Given the description of an element on the screen output the (x, y) to click on. 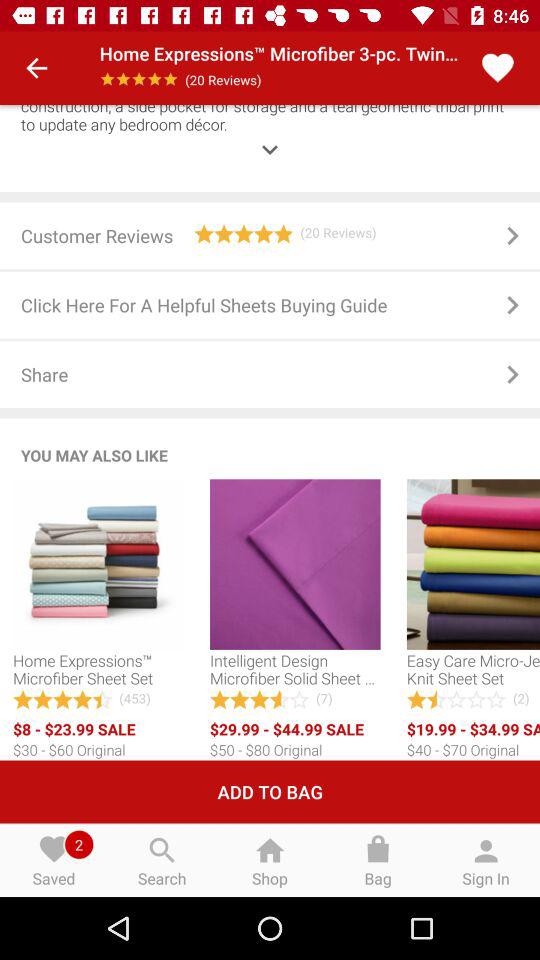
turn on item to the left of the home expressions microfiber item (36, 68)
